Given the description of an element on the screen output the (x, y) to click on. 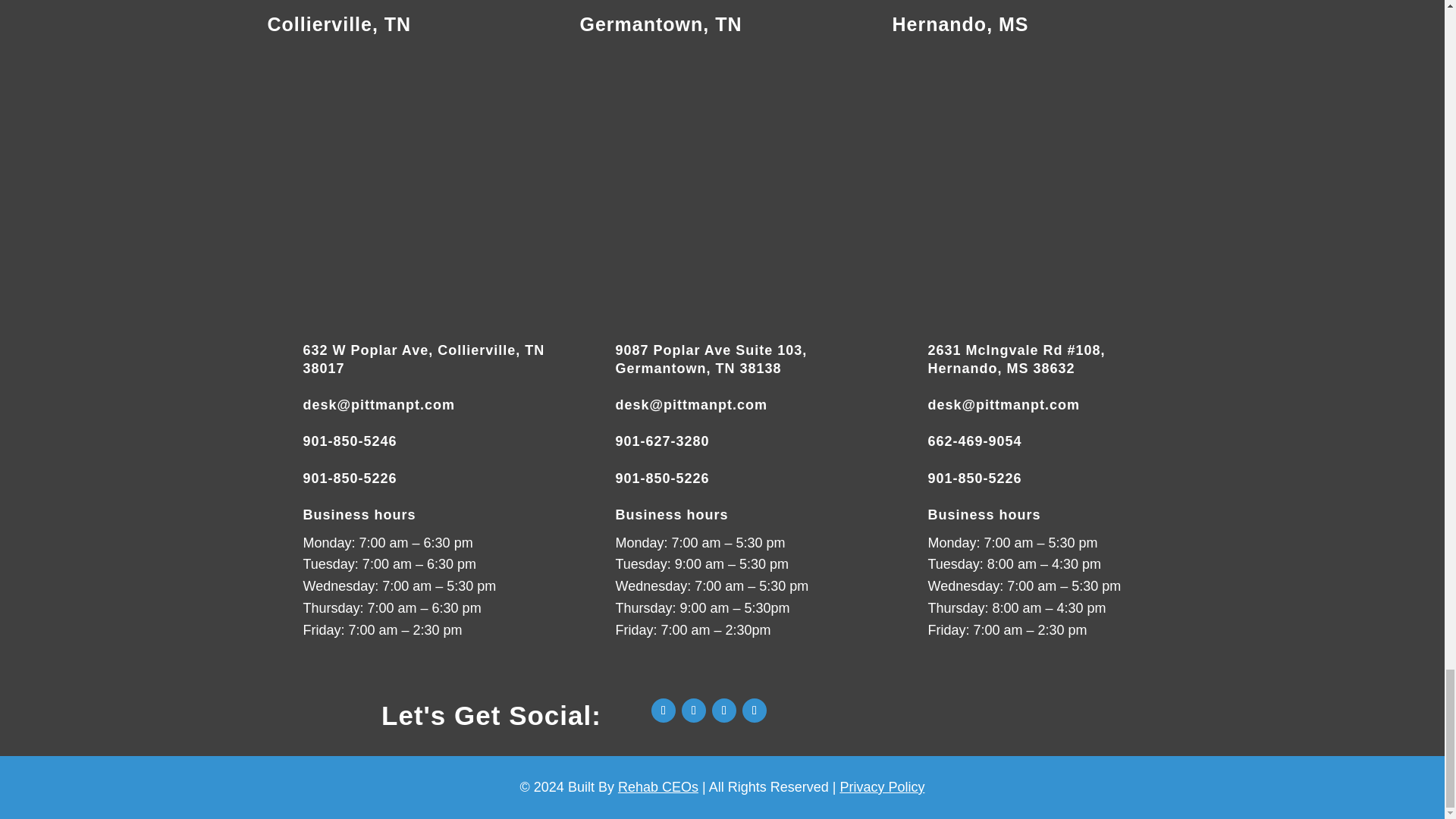
Follow on Instagram (693, 710)
Follow on Facebook (662, 710)
Follow on Google (754, 710)
Follow on Youtube (723, 710)
